Given the description of an element on the screen output the (x, y) to click on. 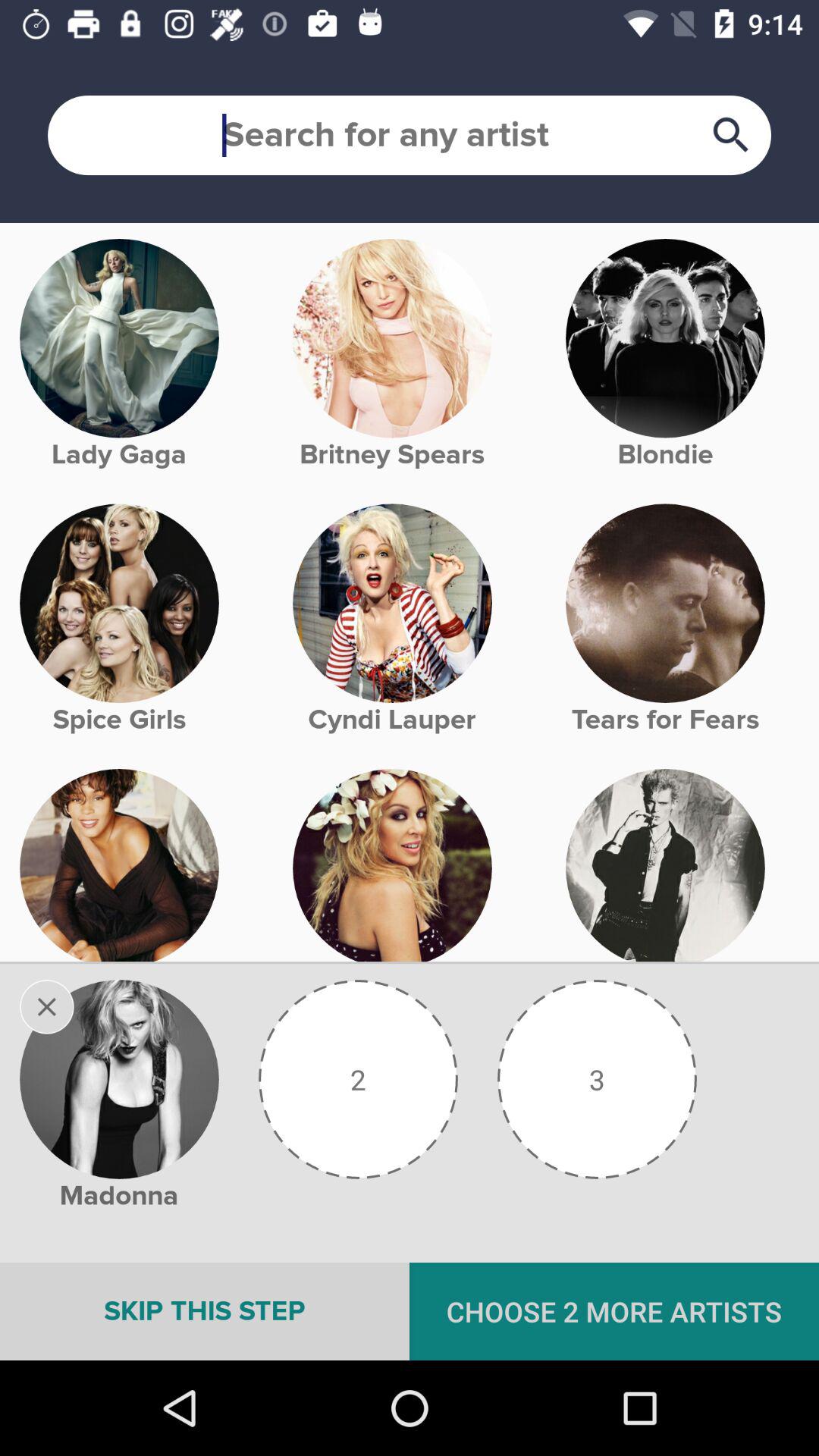
search (409, 135)
